Given the description of an element on the screen output the (x, y) to click on. 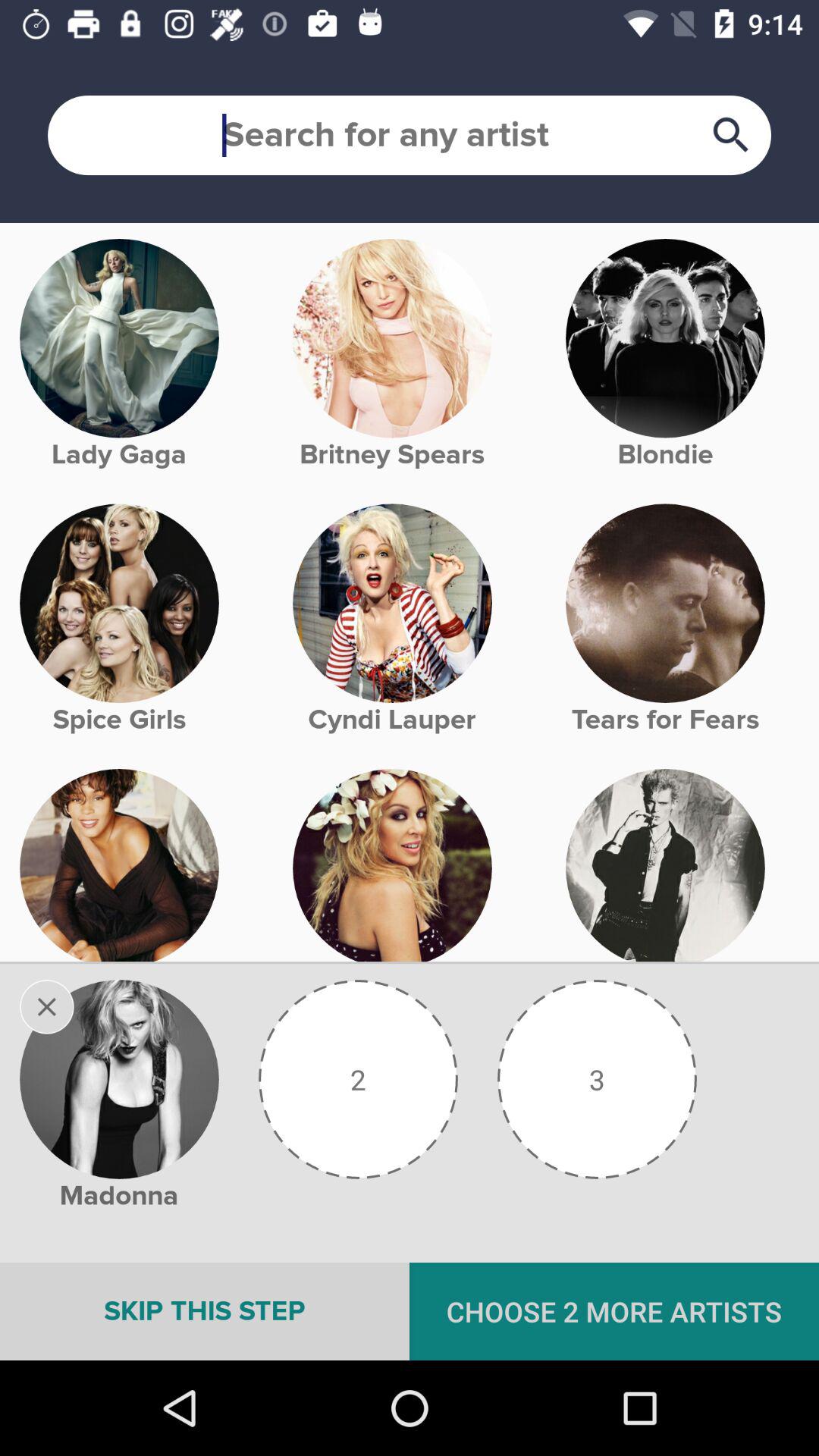
search (409, 135)
